Given the description of an element on the screen output the (x, y) to click on. 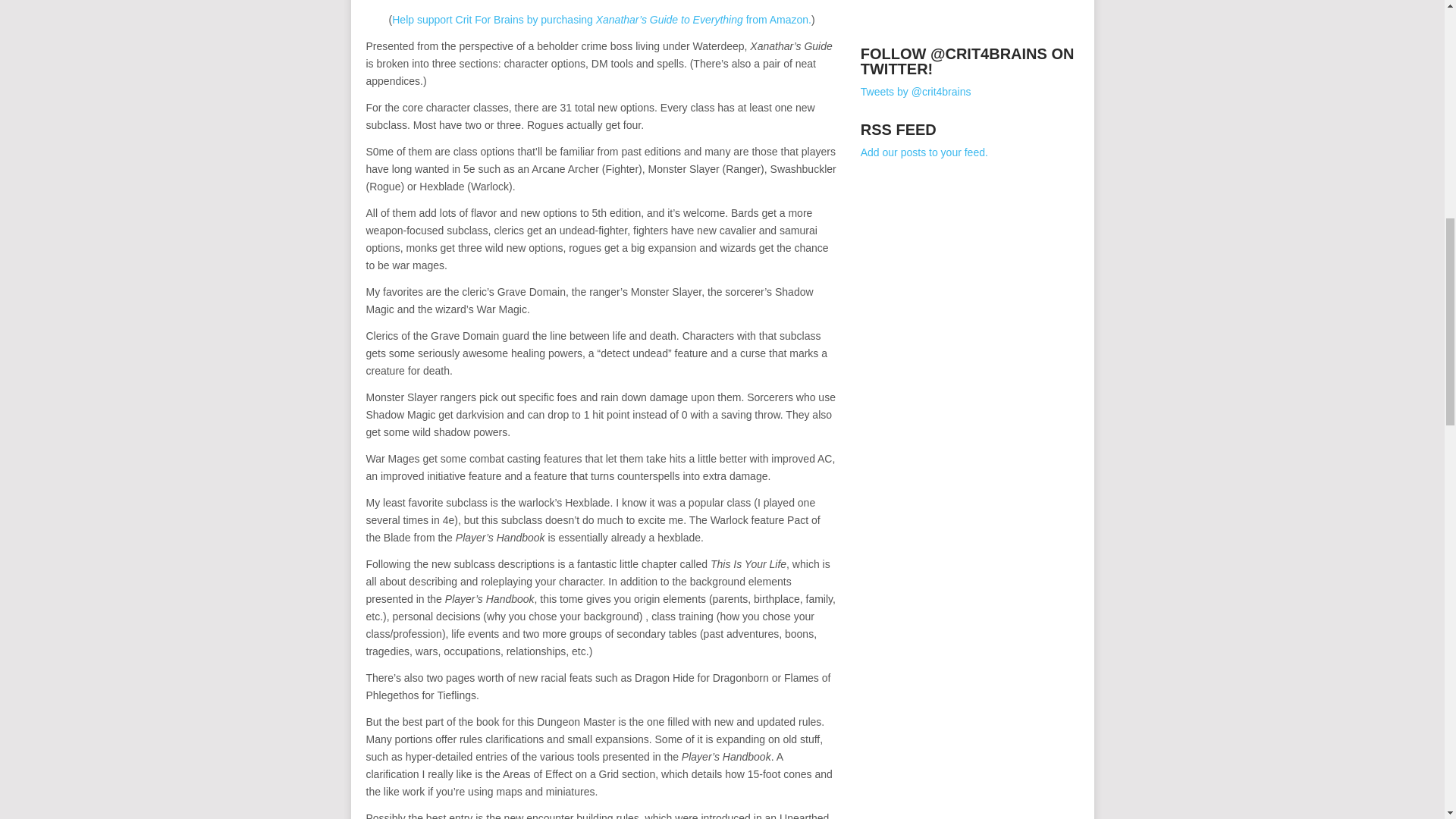
Add our posts to your feed. (924, 152)
